Given the description of an element on the screen output the (x, y) to click on. 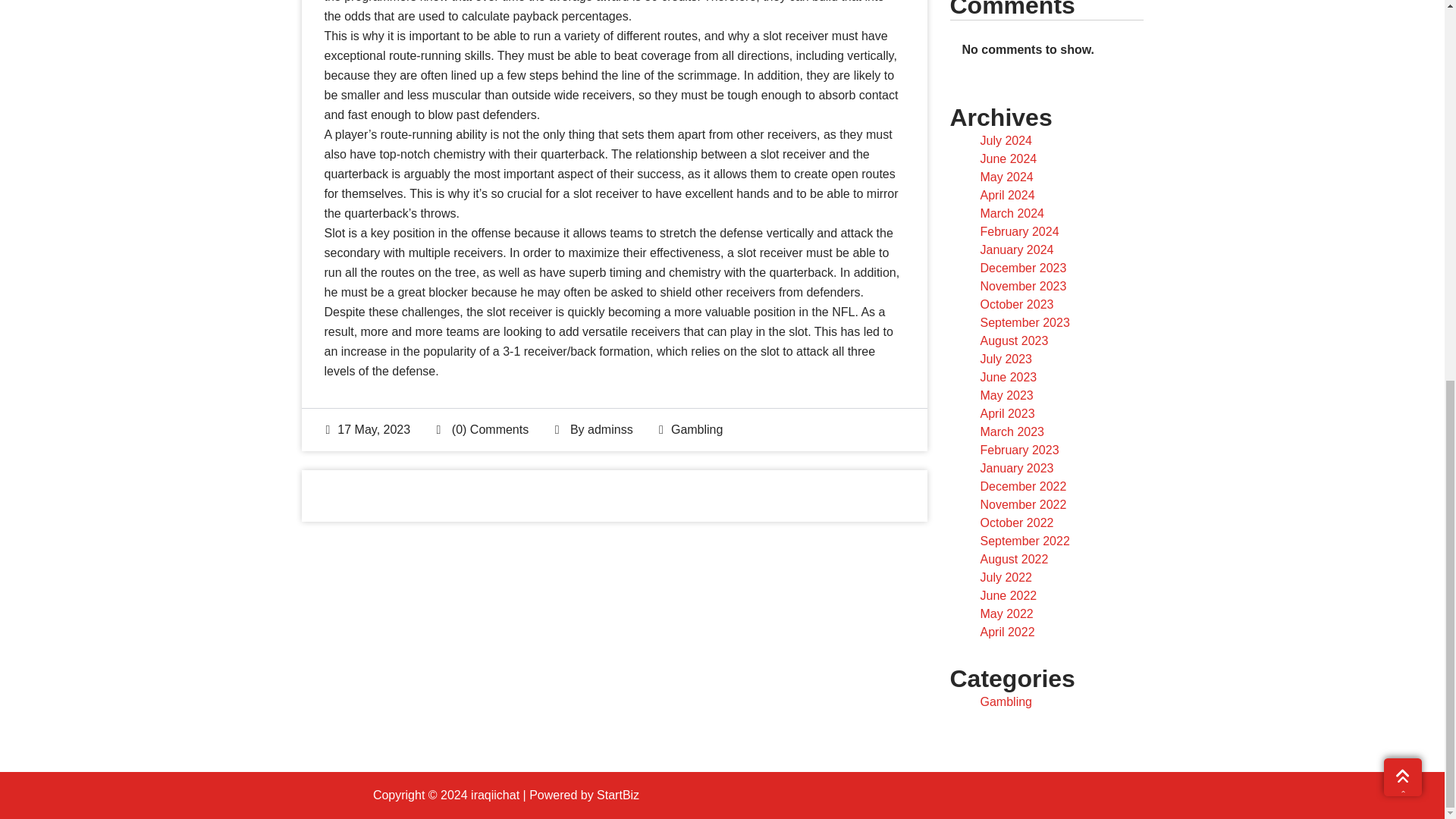
May 2024 (1005, 176)
December 2023 (1022, 267)
December 2022 (1022, 486)
March 2024 (1011, 213)
17 May, 2023 (368, 429)
February 2024 (1018, 231)
September 2023 (1023, 322)
adminss (610, 429)
April 2023 (1006, 413)
January 2024 (1015, 249)
October 2023 (1015, 304)
February 2023 (1018, 449)
July 2024 (1005, 140)
June 2024 (1007, 158)
November 2022 (1022, 504)
